Given the description of an element on the screen output the (x, y) to click on. 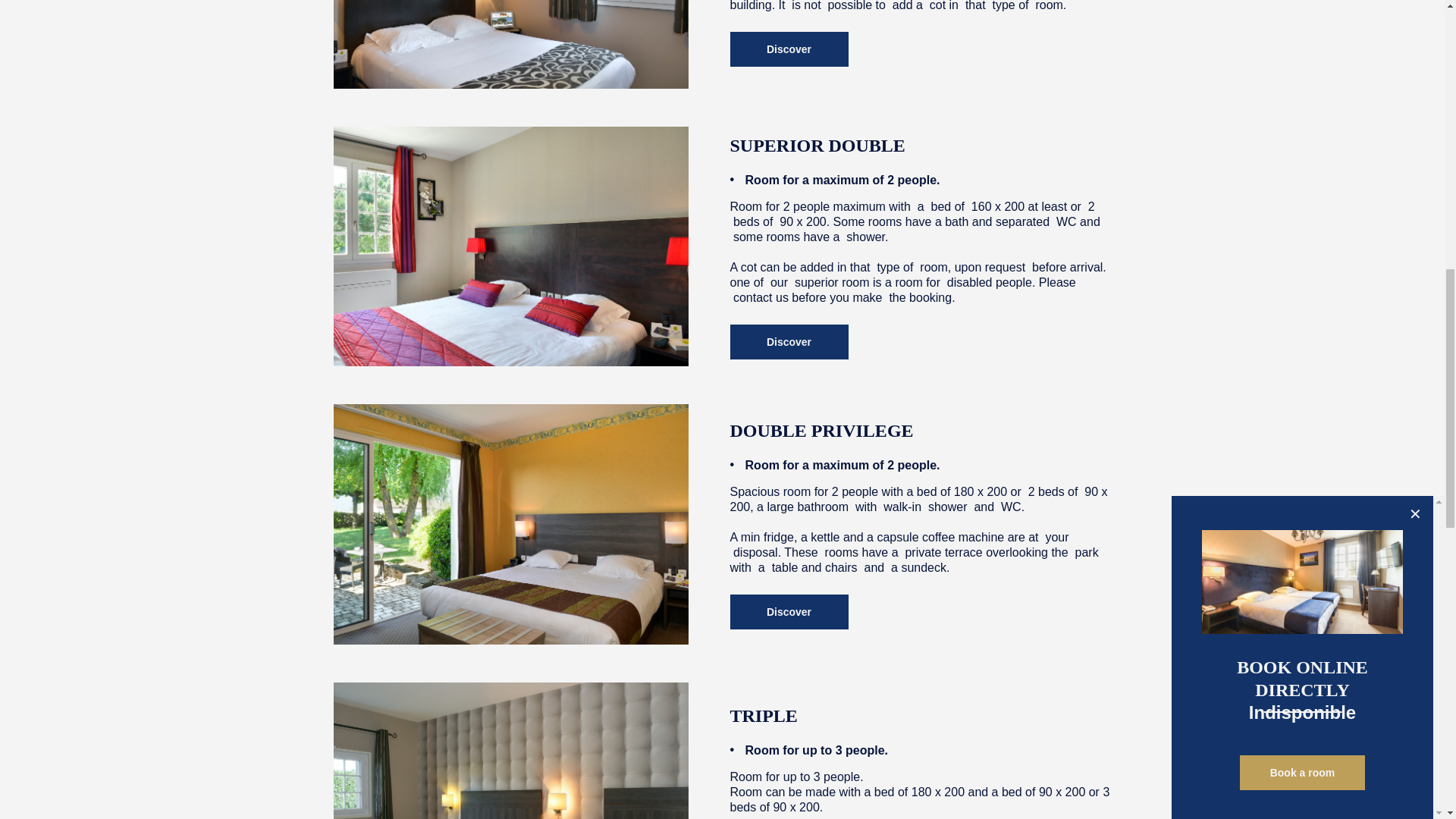
Discover (788, 611)
Discover (788, 48)
Discover (788, 341)
